Given the description of an element on the screen output the (x, y) to click on. 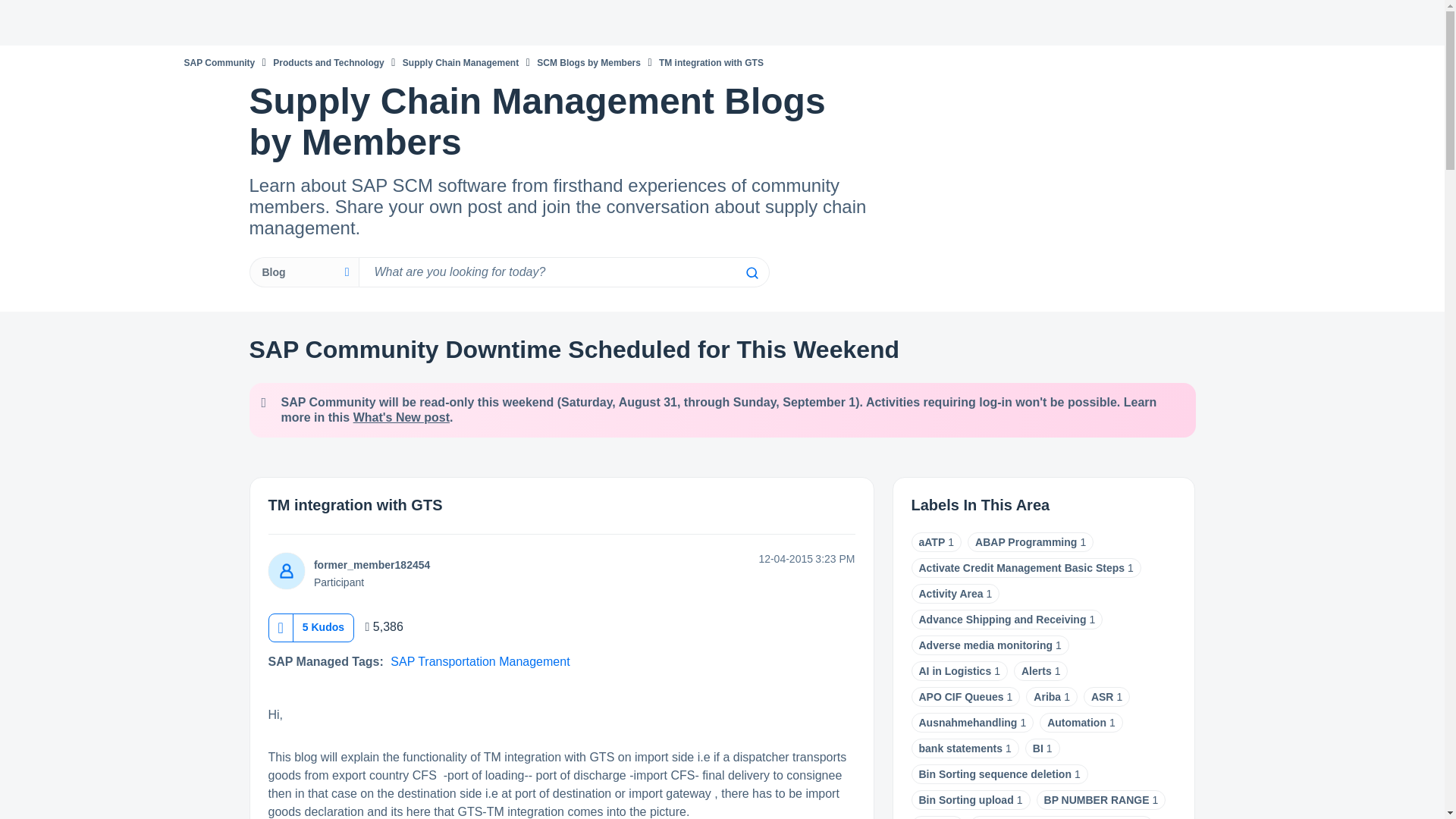
bank statements (960, 748)
What's New post (401, 417)
SAP Transportation Management (479, 661)
Activity Area (951, 593)
Search Granularity (303, 272)
Supply Chain Management (460, 62)
5 Kudos (323, 626)
Automation (1076, 722)
Ausnahmehandling (967, 722)
APO CIF Queues (961, 696)
